Given the description of an element on the screen output the (x, y) to click on. 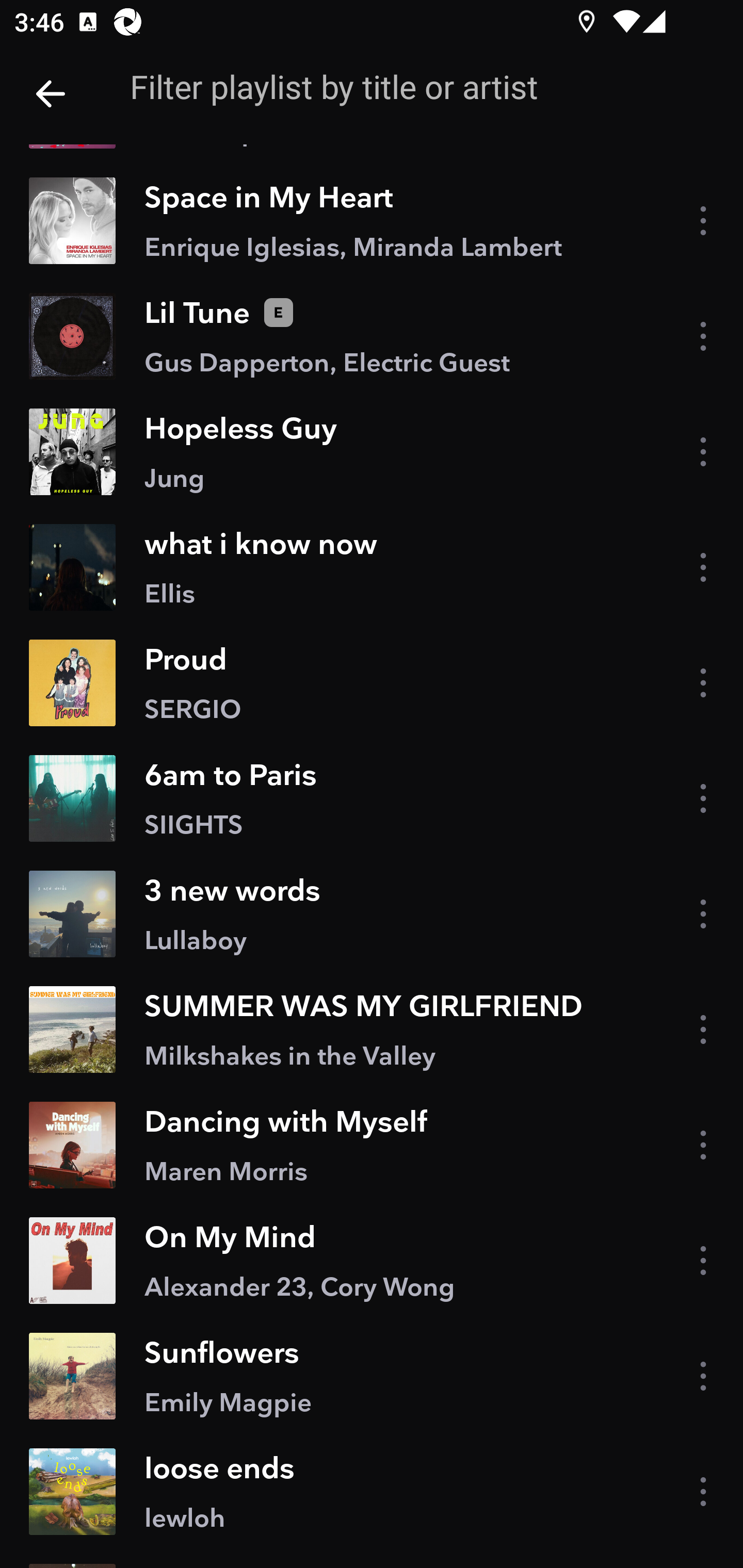
Filter playlist by title or artist (407, 87)
Lil Tune Gus Dapperton, Electric Guest (371, 336)
Hopeless Guy Jung (371, 451)
what i know now Ellis (371, 567)
Proud SERGIO (371, 682)
6am to Paris SIIGHTS (371, 798)
3 new words Lullaboy (371, 914)
SUMMER WAS MY GIRLFRIEND Milkshakes in the Valley (371, 1029)
Dancing with Myself Maren Morris (371, 1144)
On My Mind Alexander 23, Cory Wong (371, 1260)
Sunflowers Emily Magpie (371, 1375)
loose ends lewloh (371, 1491)
